Given the description of an element on the screen output the (x, y) to click on. 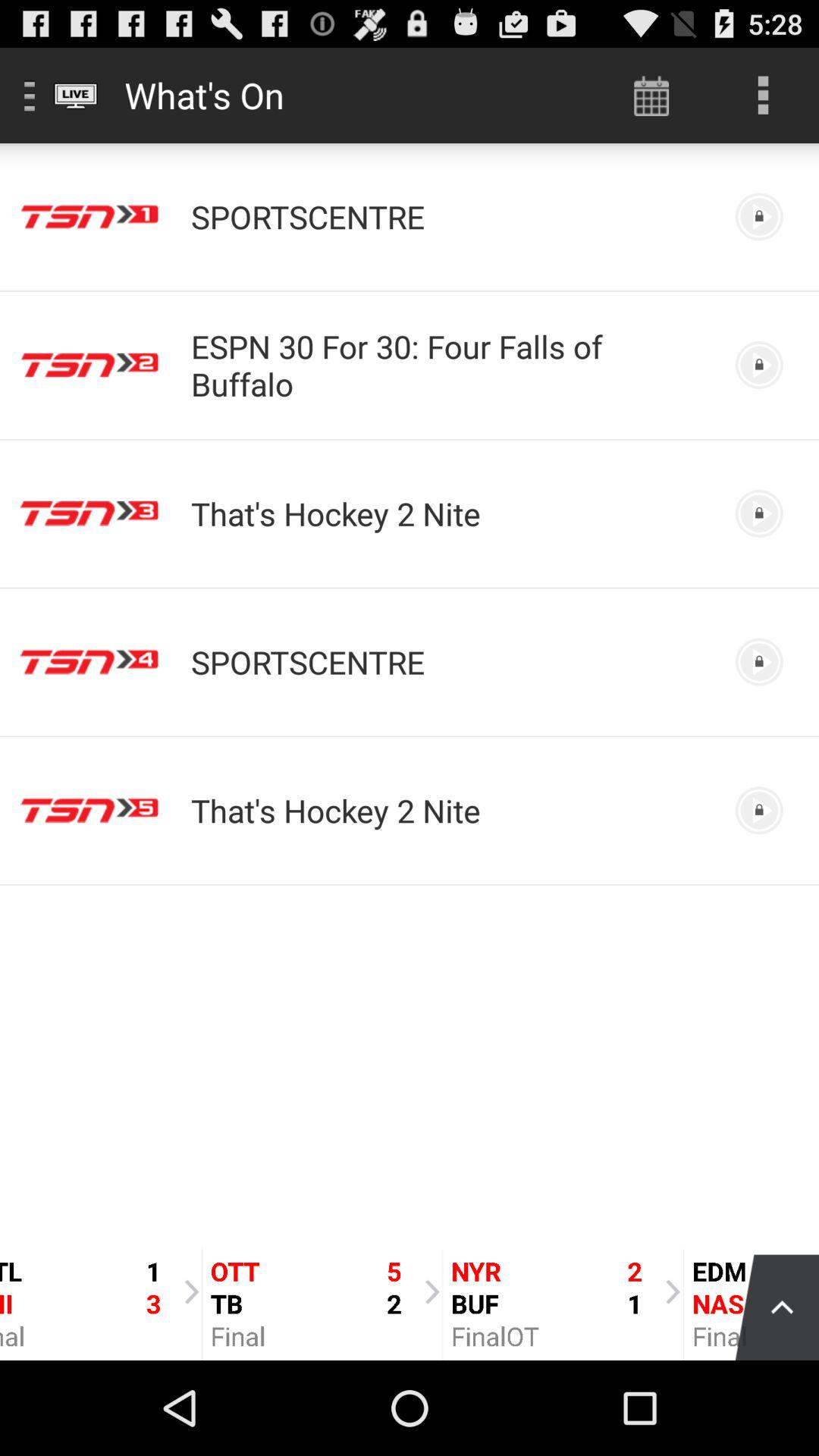
choose item below sportscentre icon (450, 364)
